Given the description of an element on the screen output the (x, y) to click on. 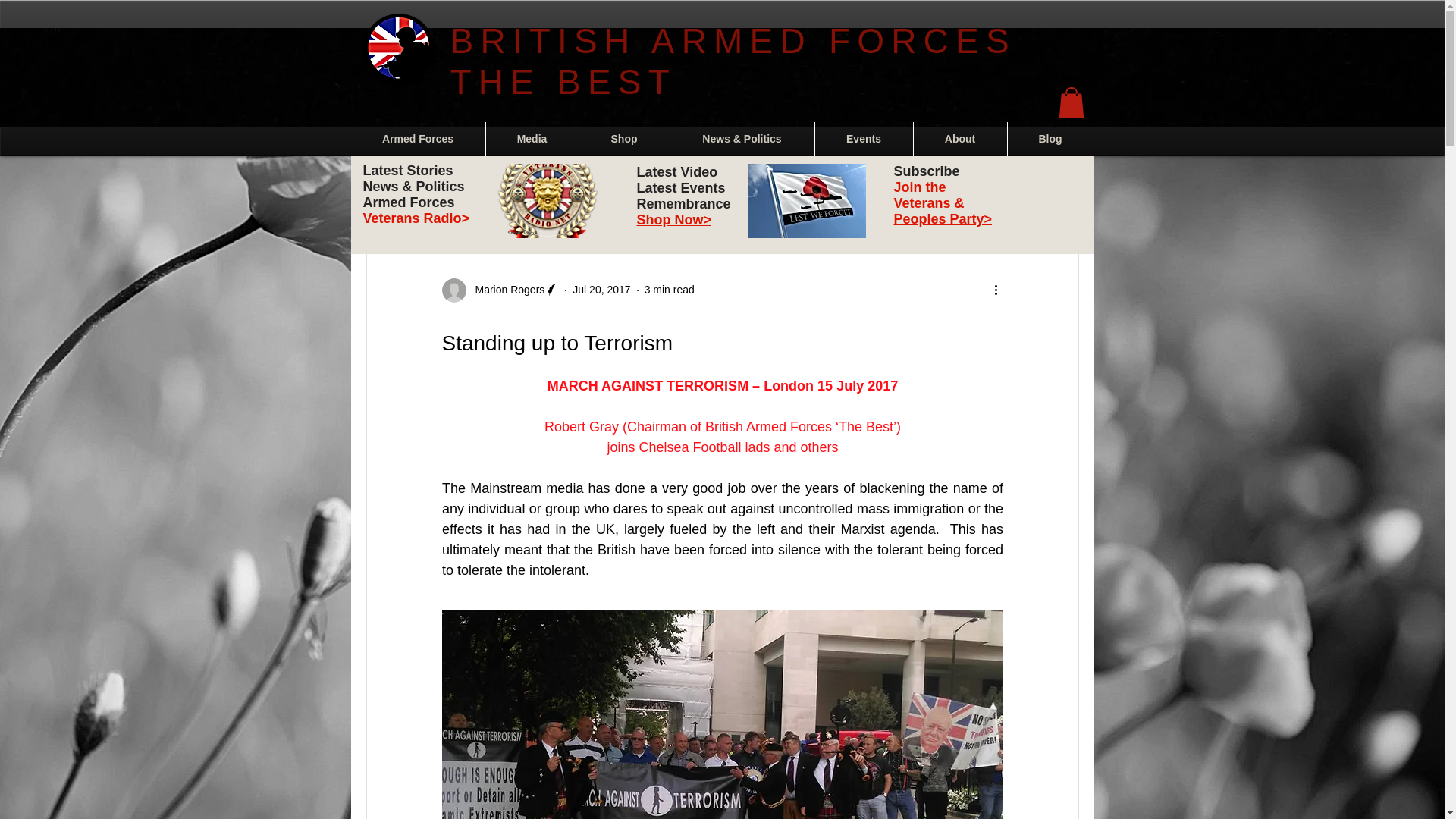
About (959, 139)
Shop (624, 139)
Remembrance (525, 186)
3 min read (669, 289)
Marion Rogers (504, 289)
Media (531, 139)
All Posts (385, 186)
Jul 20, 2017 (601, 289)
News (448, 186)
Blog (1050, 139)
